Given the description of an element on the screen output the (x, y) to click on. 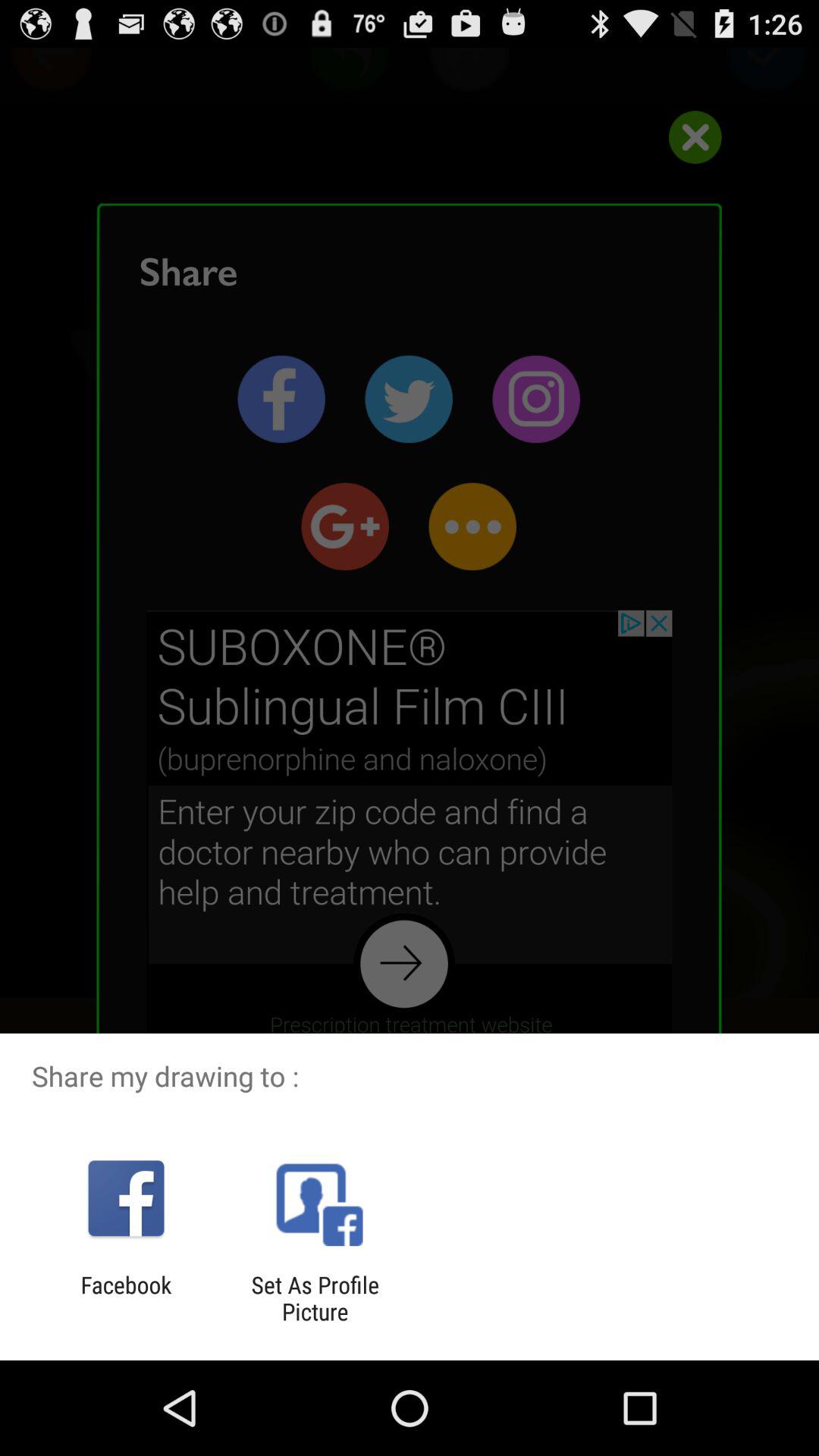
turn on the icon next to the set as profile icon (125, 1298)
